Given the description of an element on the screen output the (x, y) to click on. 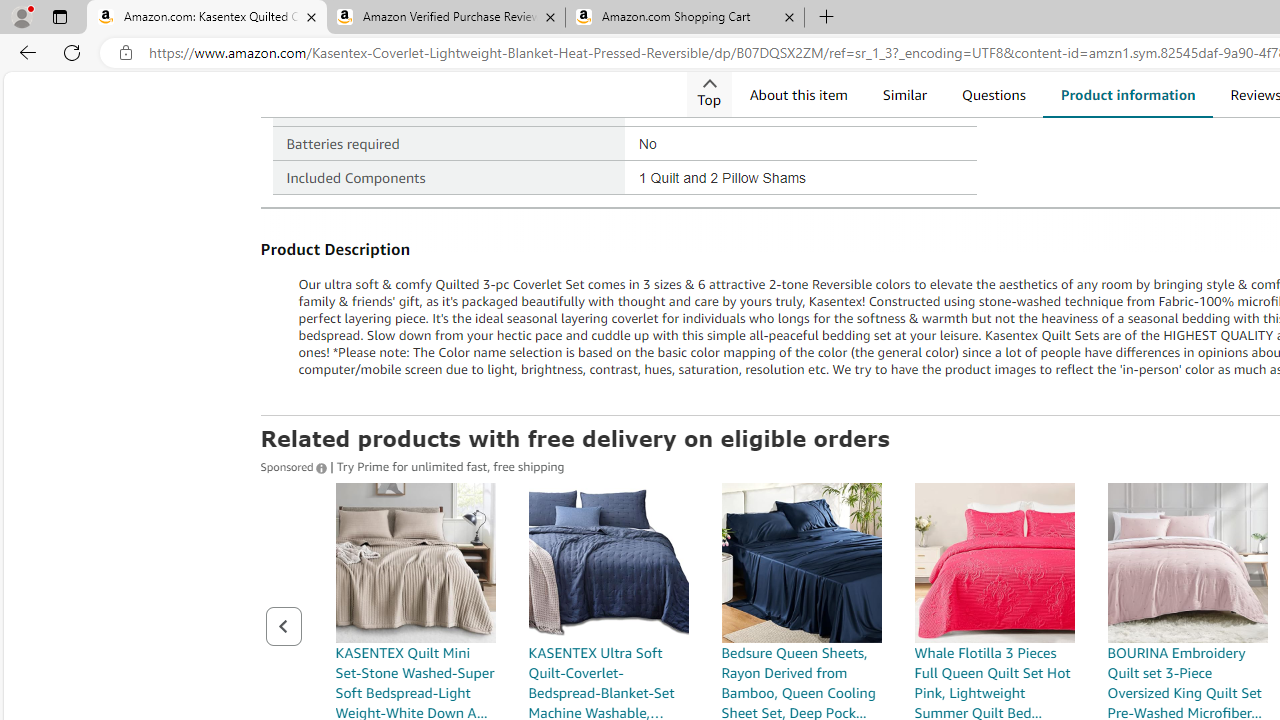
Similar (904, 94)
Questions (993, 94)
Amazon.com Shopping Cart (684, 17)
Previous page of related Sponsored Products (283, 625)
About this item (797, 94)
Product information (1127, 94)
